Given the description of an element on the screen output the (x, y) to click on. 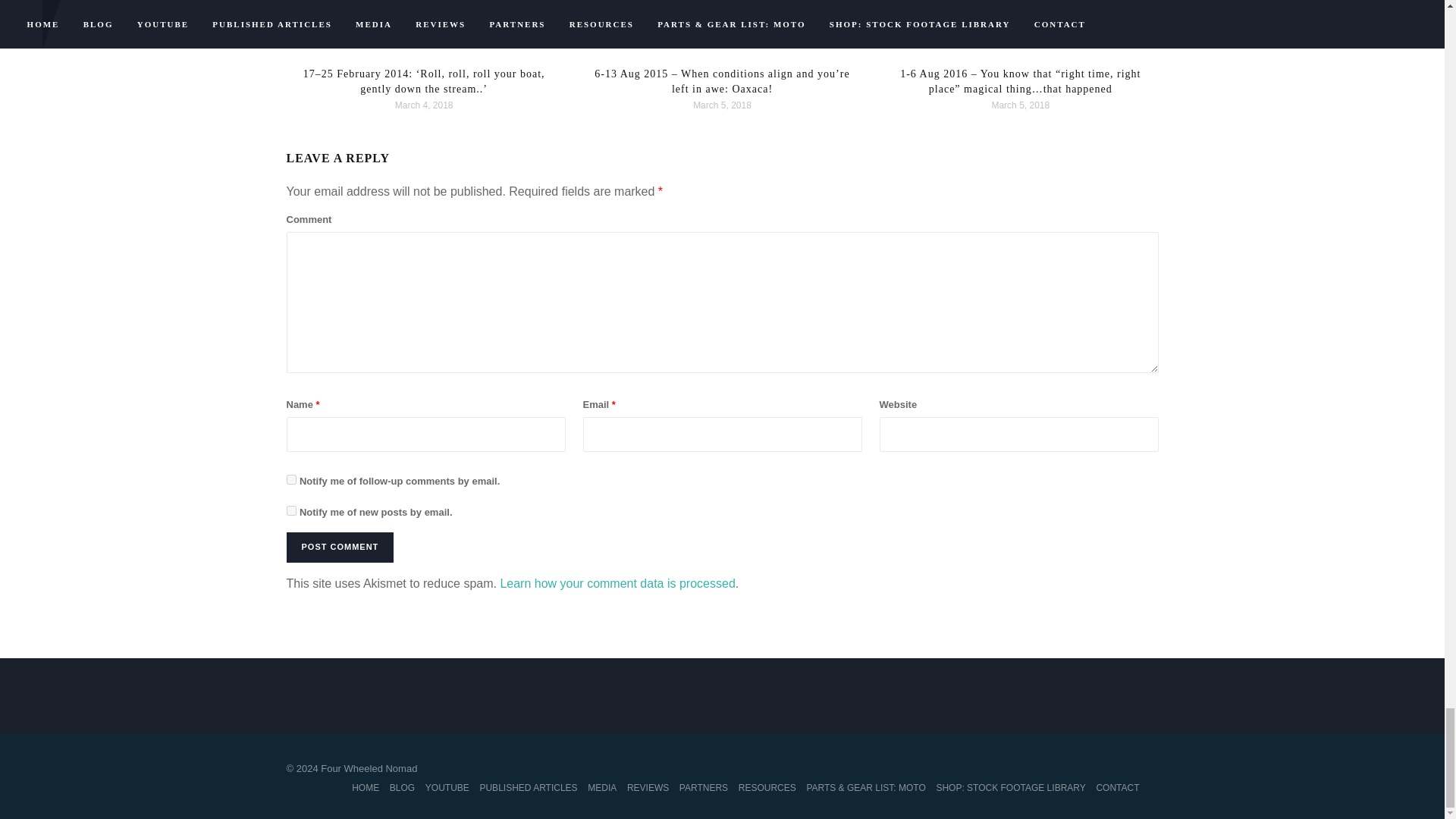
subscribe (291, 510)
Post Comment (340, 547)
subscribe (291, 479)
